Given the description of an element on the screen output the (x, y) to click on. 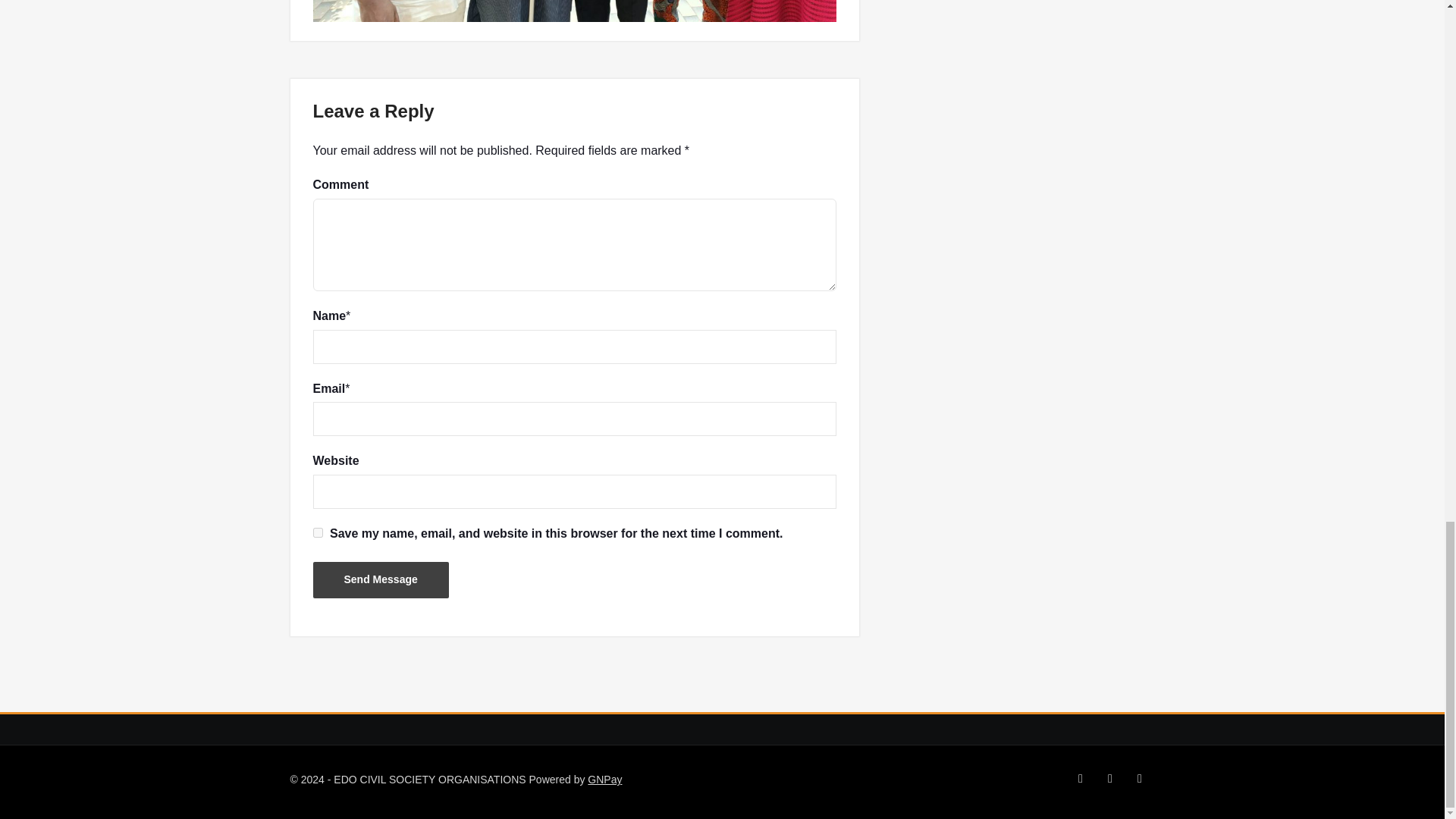
yes (317, 532)
Send Message (380, 579)
Send Message (380, 579)
